Given the description of an element on the screen output the (x, y) to click on. 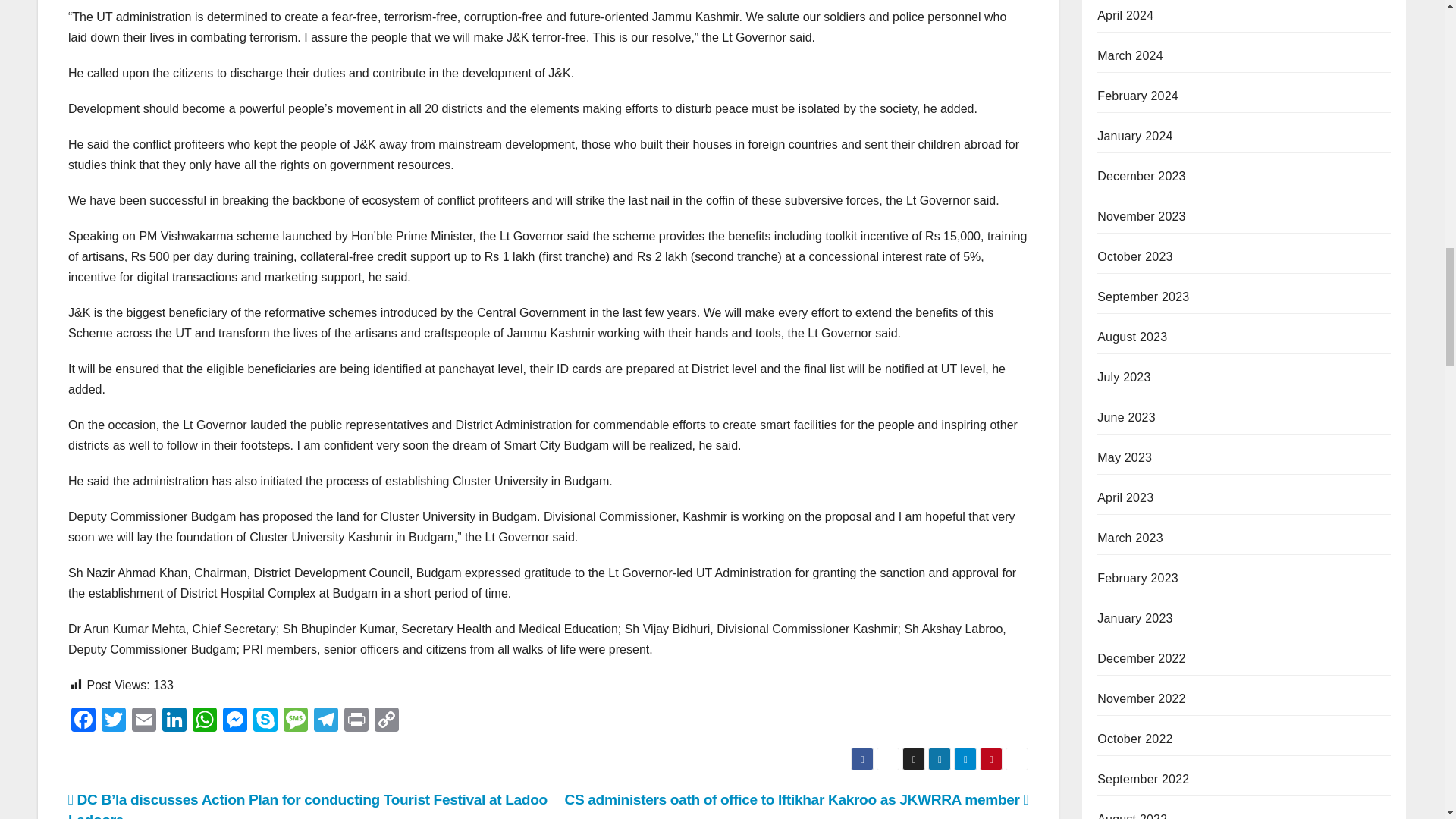
Email (143, 721)
Facebook (83, 721)
Twitter (114, 721)
